Given the description of an element on the screen output the (x, y) to click on. 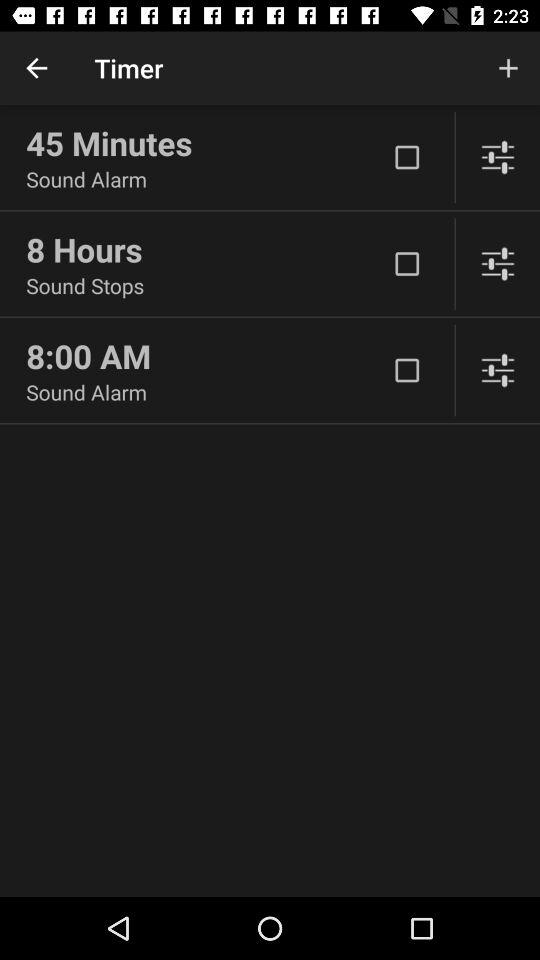
adjust the sound (498, 263)
